Given the description of an element on the screen output the (x, y) to click on. 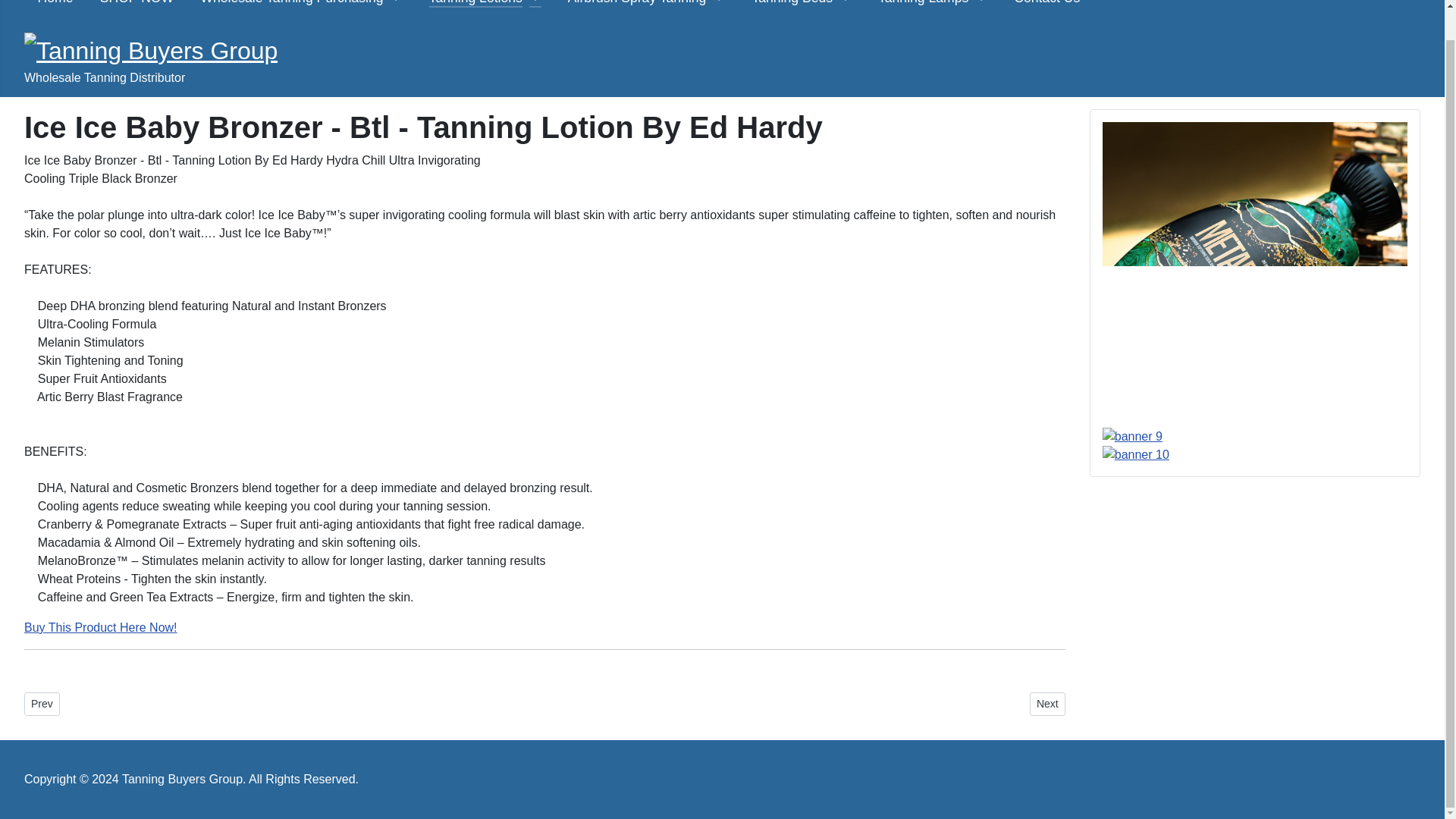
Airbrush Spray Tanning (636, 3)
Tanning Lamps (922, 3)
Tanning Lotions (475, 3)
Wholesale Tanning Purchasing (291, 3)
Buy This Product Here Now! (100, 626)
Home (55, 3)
Contact Us (1046, 3)
SHOP NOW (136, 3)
Tanning Beds (791, 3)
